Given the description of an element on the screen output the (x, y) to click on. 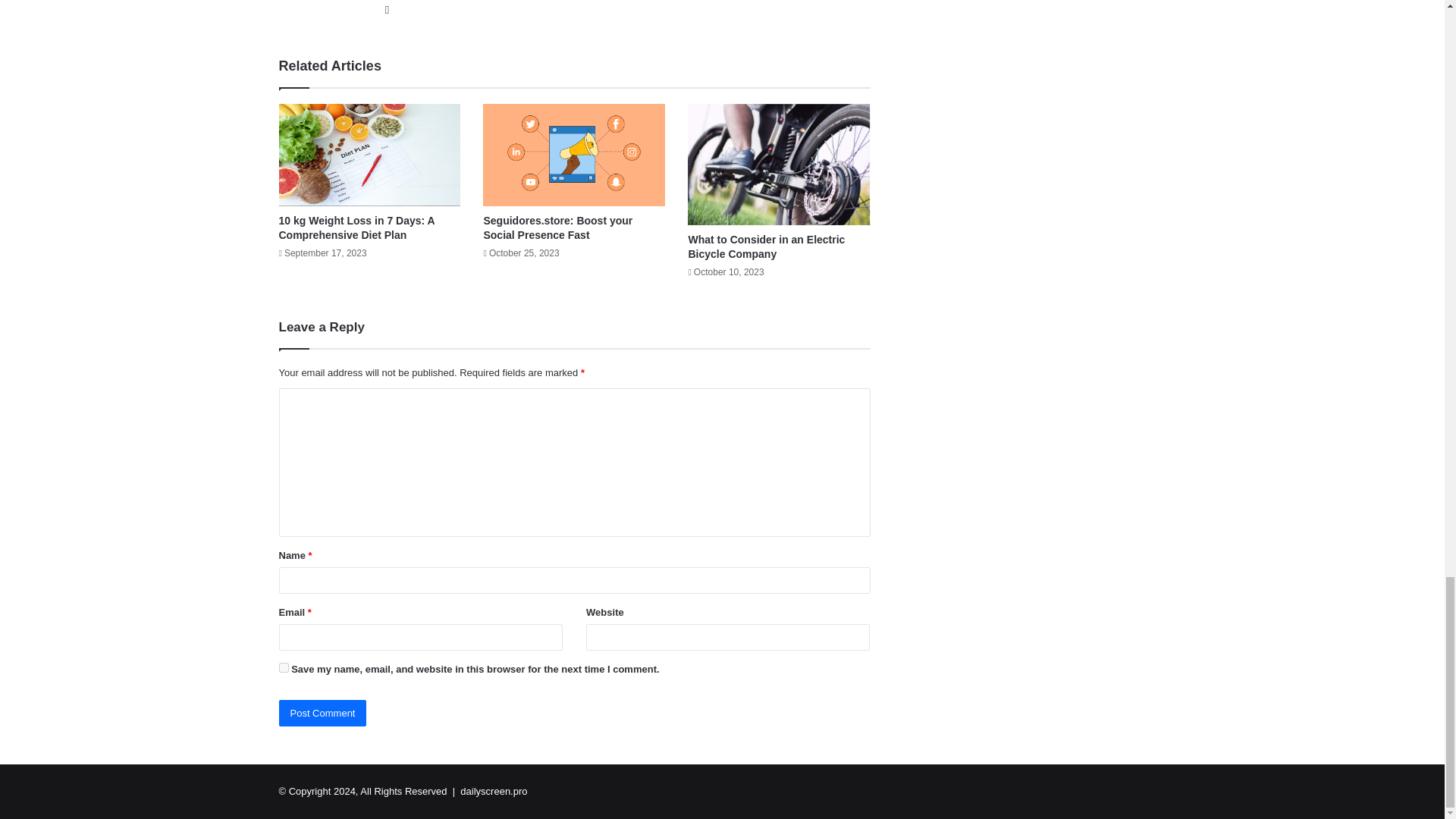
yes (283, 667)
Website (386, 9)
Post Comment (322, 713)
10 kg Weight Loss in 7 Days: A Comprehensive Diet Plan (357, 227)
